Given the description of an element on the screen output the (x, y) to click on. 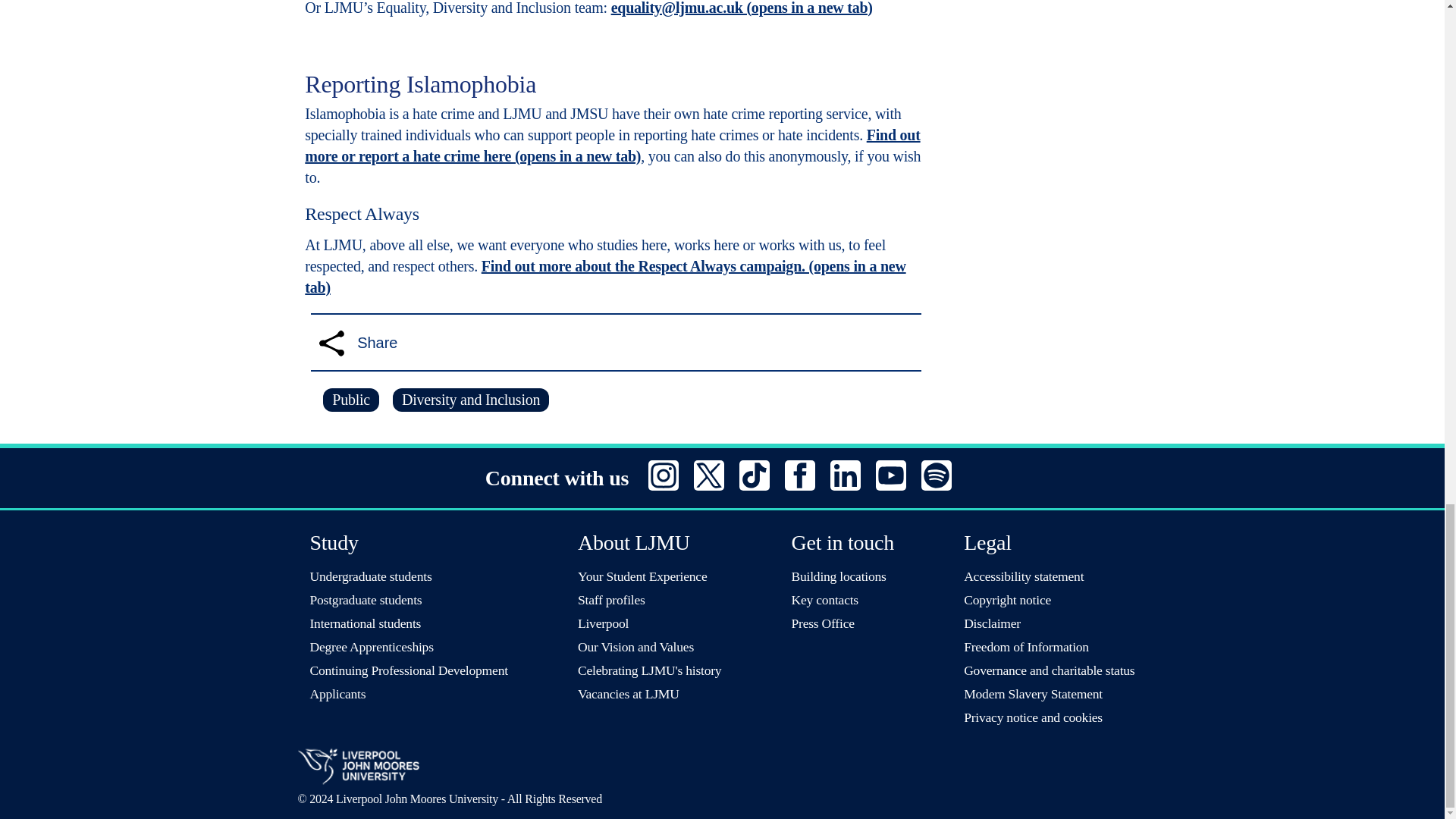
Press and Media (823, 622)
